Given the description of an element on the screen output the (x, y) to click on. 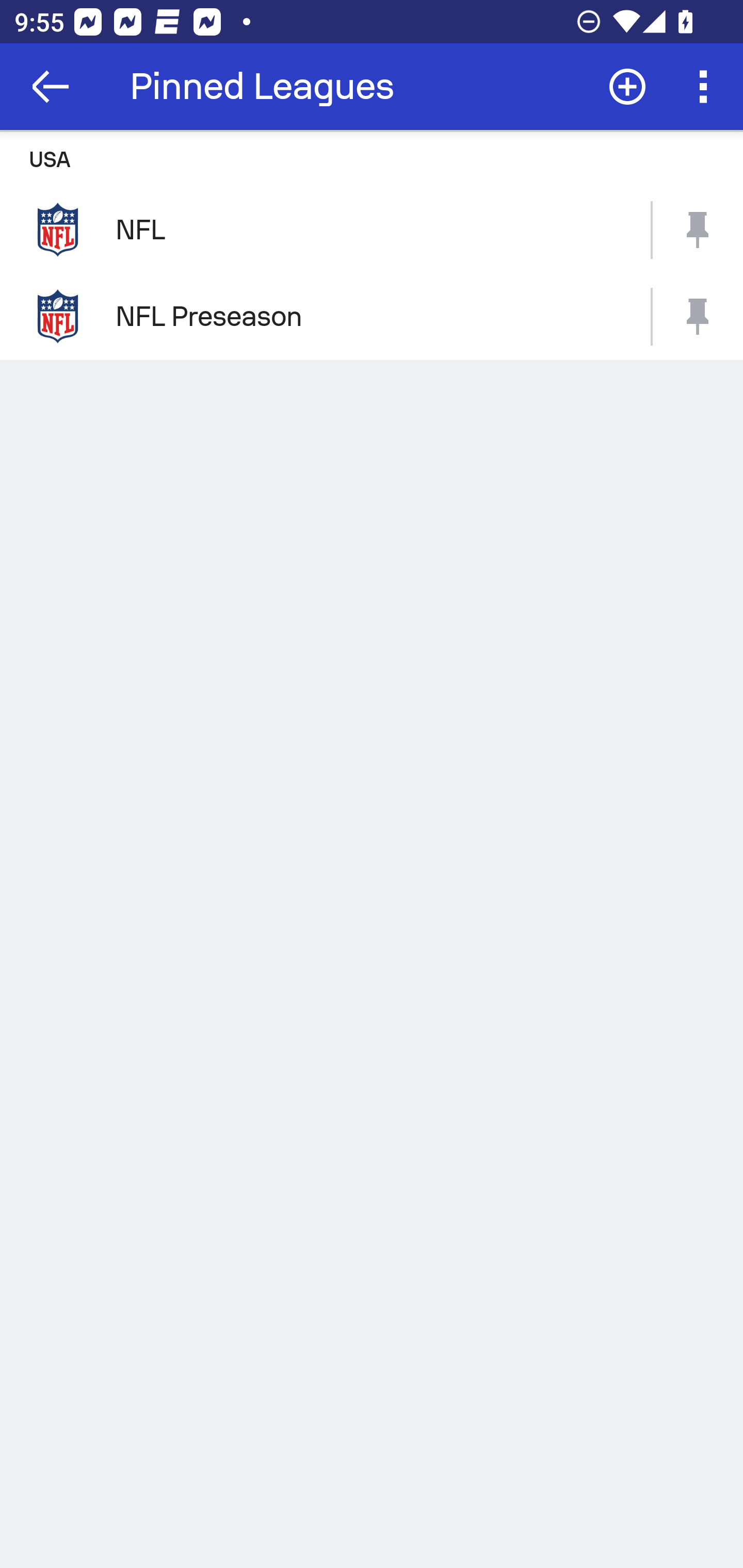
Navigate up (50, 86)
Add league (626, 86)
More options (706, 86)
USA (371, 158)
picture NFL picture picture (371, 229)
picture (697, 229)
picture NFL Preseason picture picture (371, 316)
picture (697, 316)
